Given the description of an element on the screen output the (x, y) to click on. 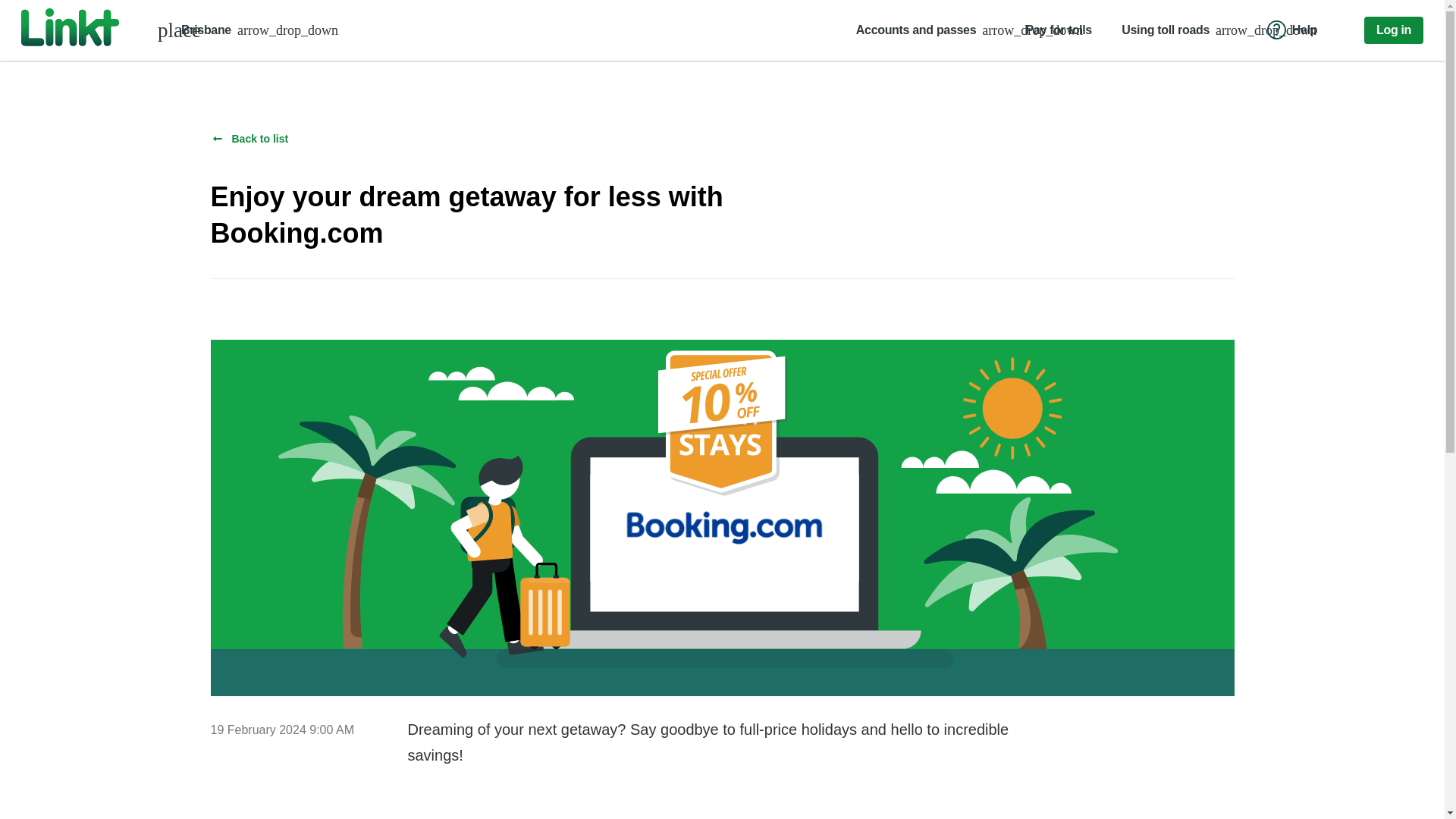
Help (1291, 30)
Pay for tolls (1058, 30)
Log in (1393, 30)
Pay for tolls (1058, 29)
